Given the description of an element on the screen output the (x, y) to click on. 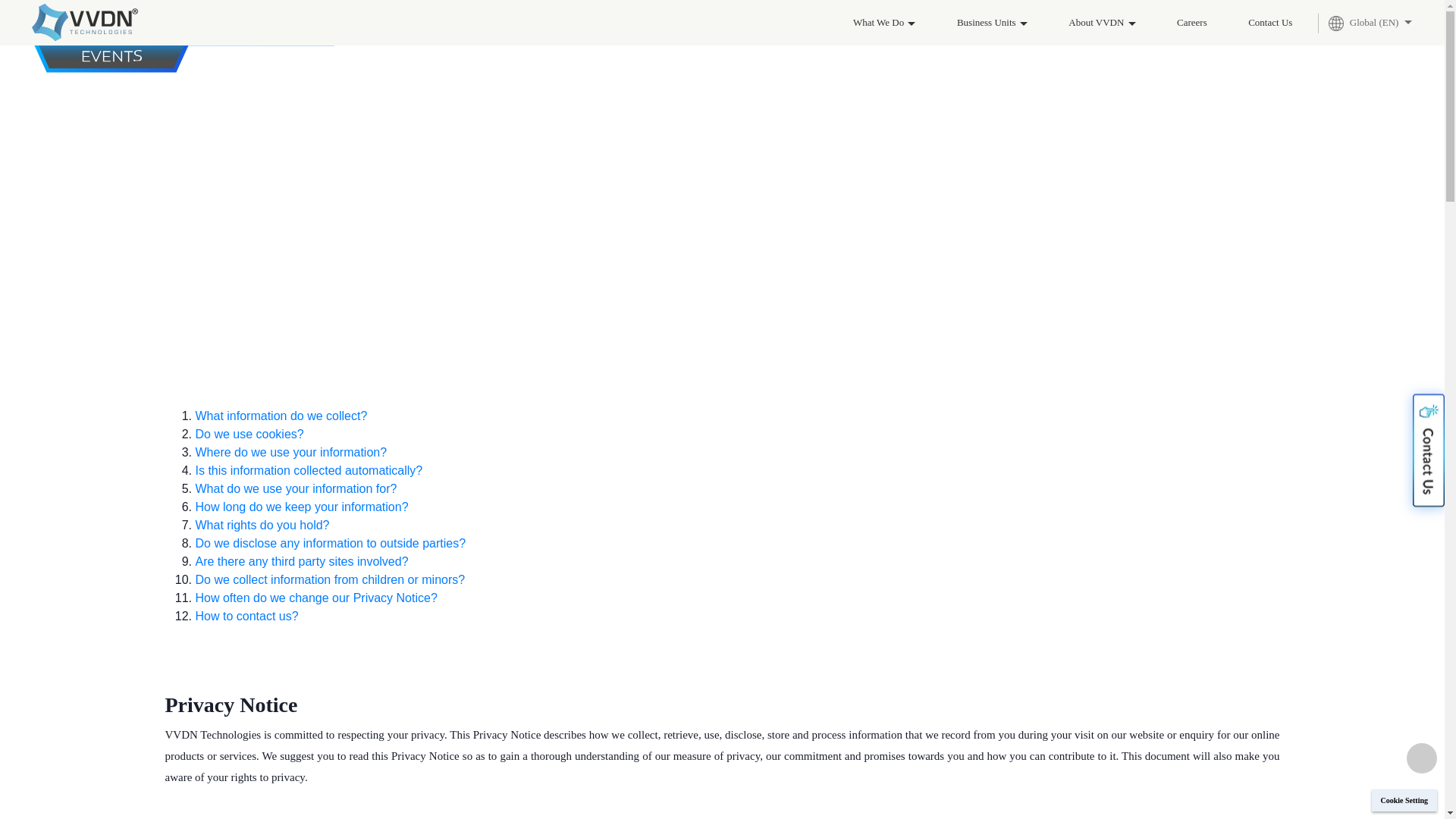
What We Do (884, 22)
FPGA Engineering (535, 56)
Hardware Engineering (543, 56)
Software Engineering (540, 56)
Mechanical Engineering (546, 56)
Automechanika 2024 (247, 22)
